Given the description of an element on the screen output the (x, y) to click on. 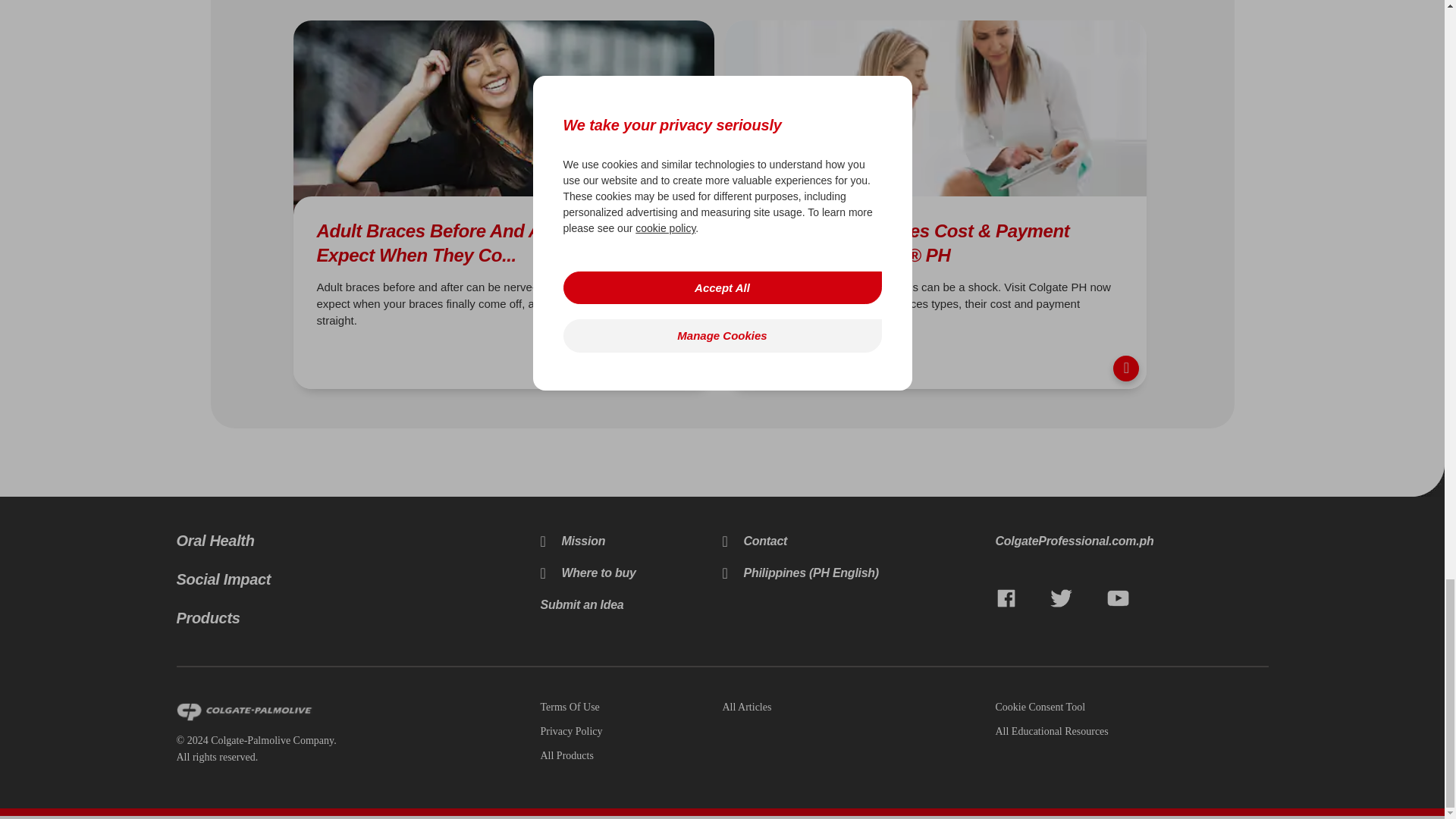
YouTube (1118, 599)
gray curved footer (1427, 479)
Our Mission (572, 540)
Facebook (1005, 599)
Twitter (1061, 599)
